Given the description of an element on the screen output the (x, y) to click on. 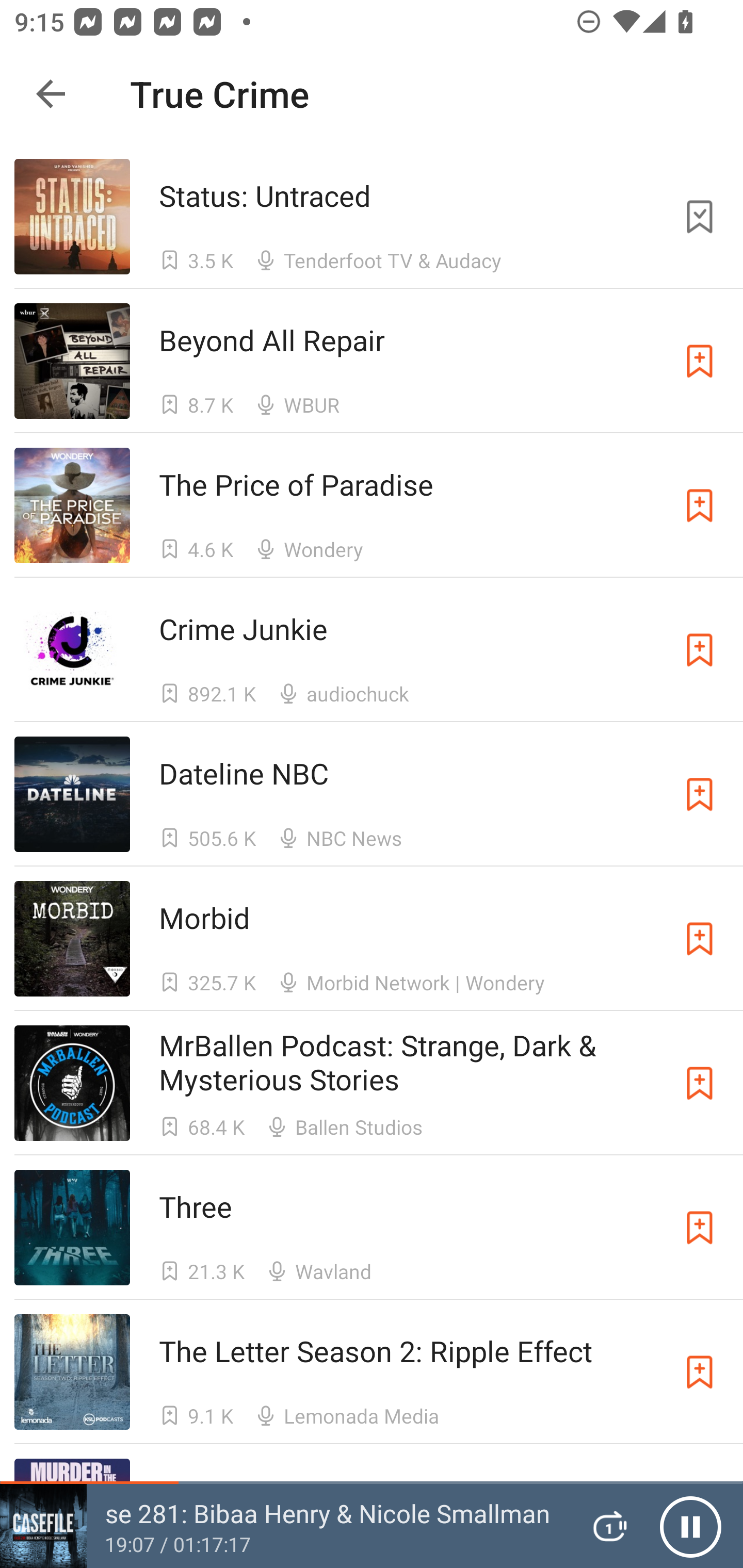
Navigate up (50, 93)
Unsubscribe (699, 216)
Subscribe (699, 360)
Subscribe (699, 505)
Subscribe (699, 649)
Subscribe (699, 793)
Subscribe (699, 939)
Subscribe (699, 1083)
Three Three  21.3 K  Wavland Subscribe (371, 1227)
Subscribe (699, 1227)
Subscribe (699, 1371)
Pause (690, 1526)
